Given the description of an element on the screen output the (x, y) to click on. 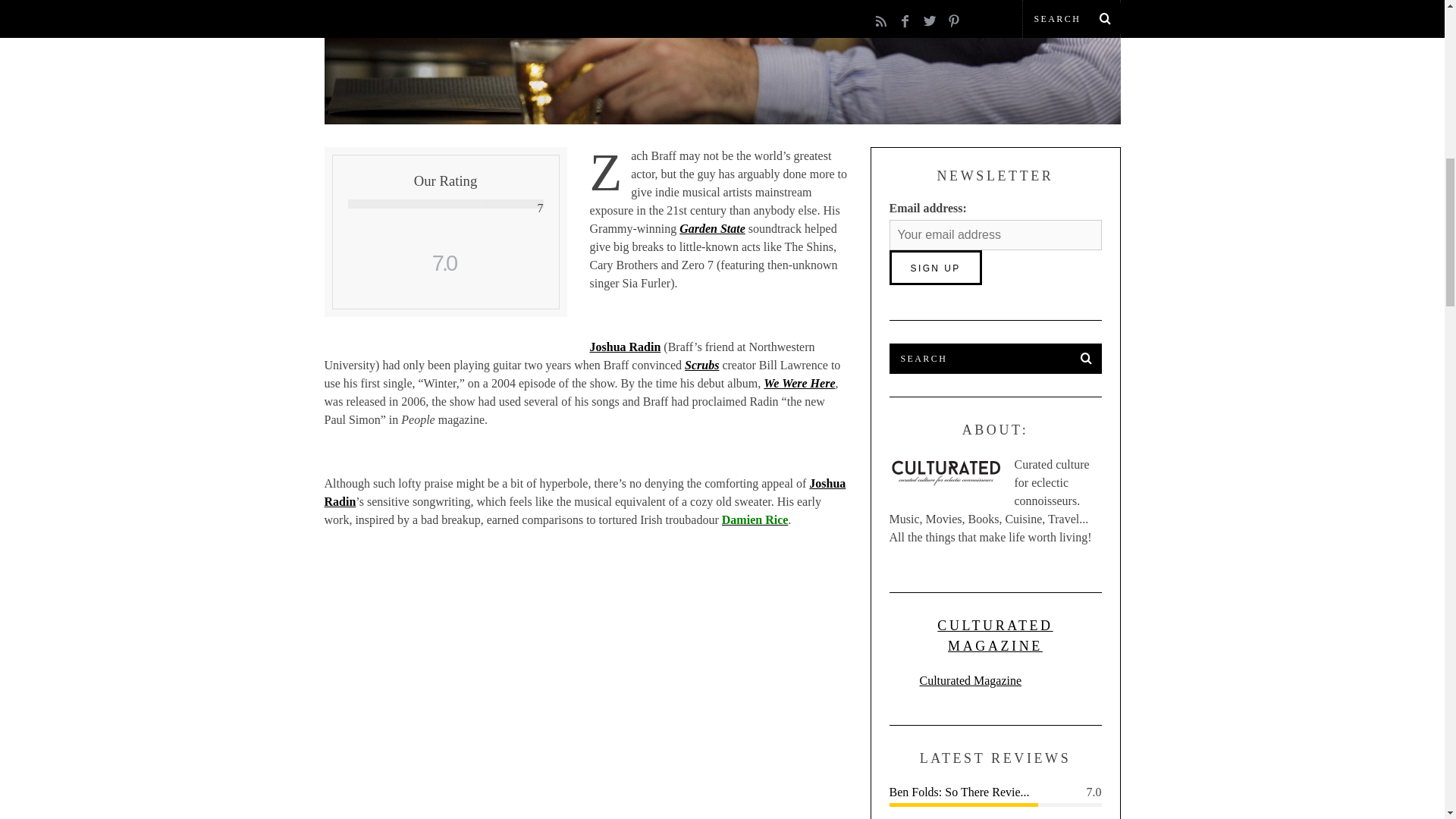
Garden State Soundtrack (712, 228)
Scrubs: The Complete Collection (701, 364)
We Were Here (798, 382)
7.0 (443, 263)
Search (994, 358)
Sign up (934, 267)
